Given the description of an element on the screen output the (x, y) to click on. 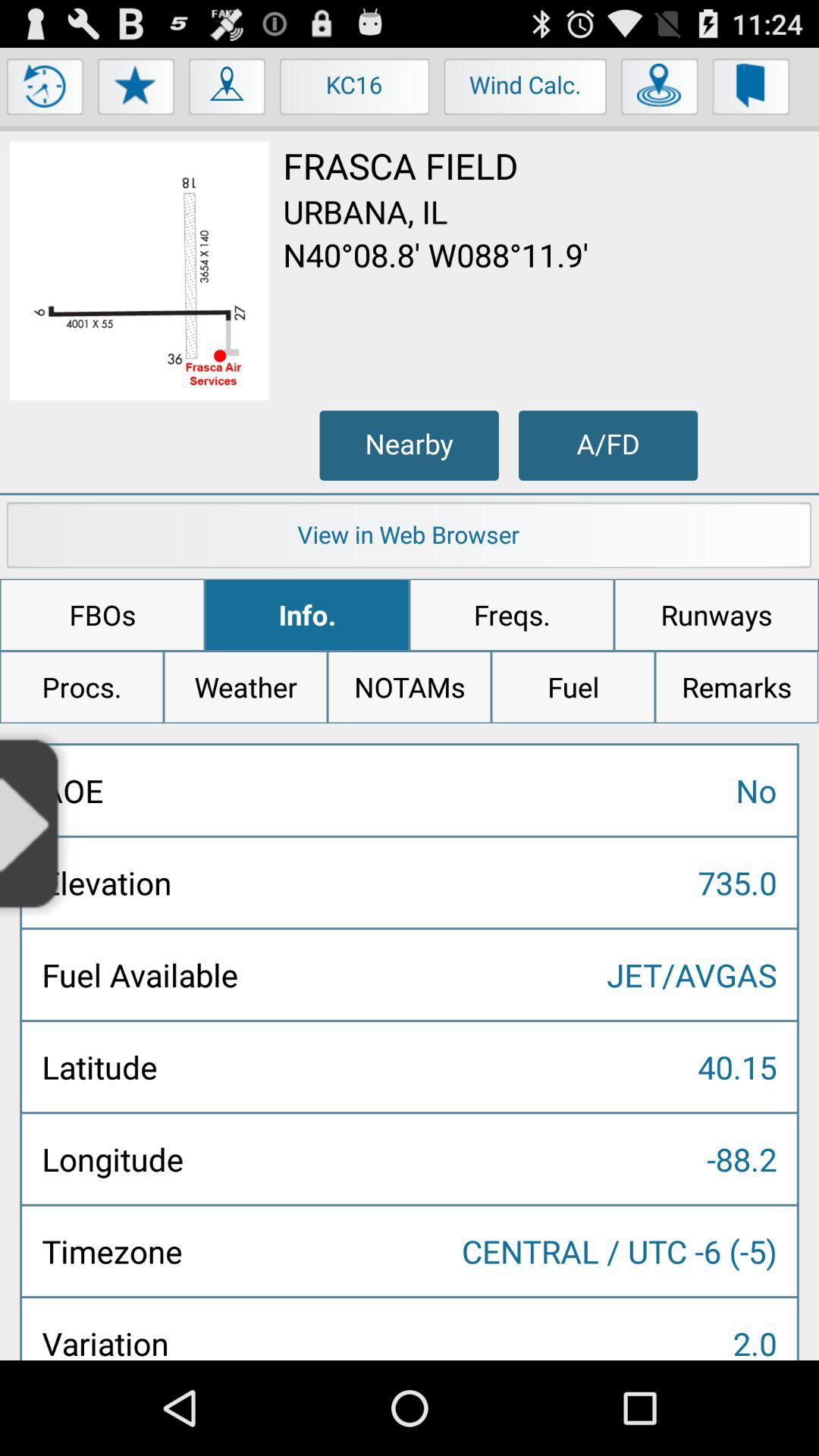
launch item to the right of the wind calc. item (659, 90)
